Given the description of an element on the screen output the (x, y) to click on. 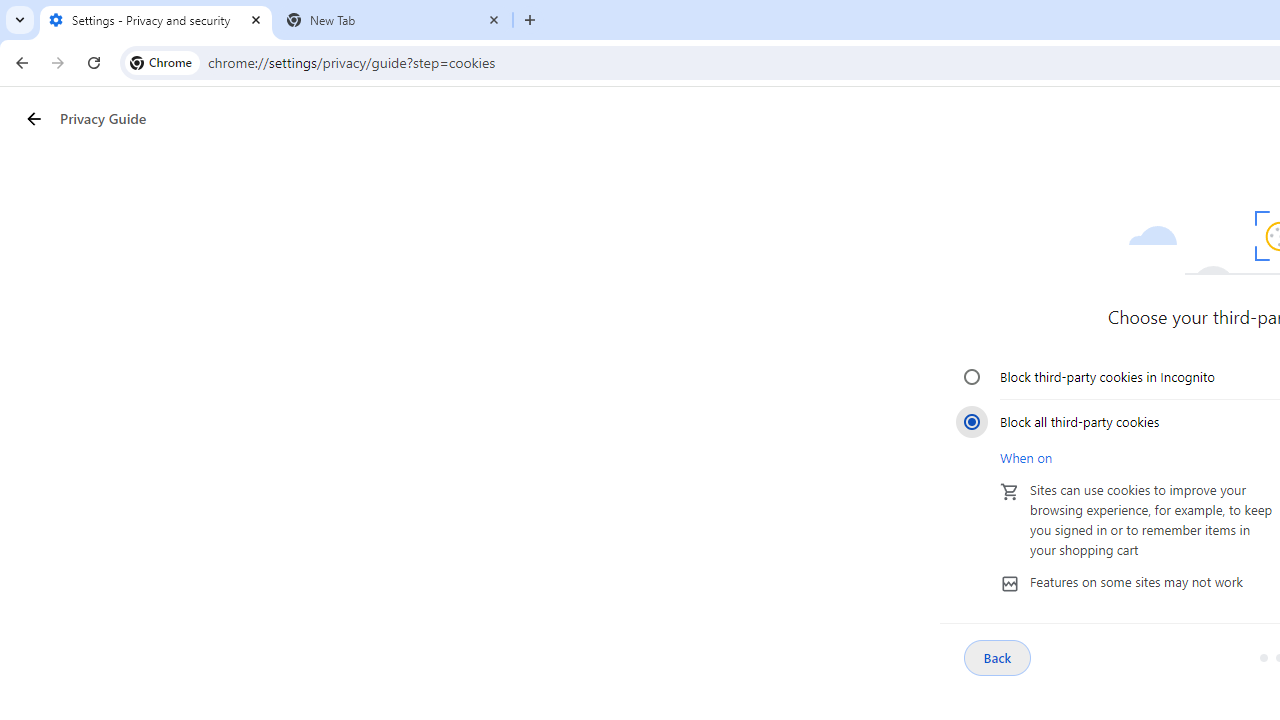
Settings - Privacy and security (156, 20)
Block third-party cookies in Incognito (971, 376)
New Tab (394, 20)
Block all third-party cookies (971, 421)
Privacy Guide back button (33, 118)
